Given the description of an element on the screen output the (x, y) to click on. 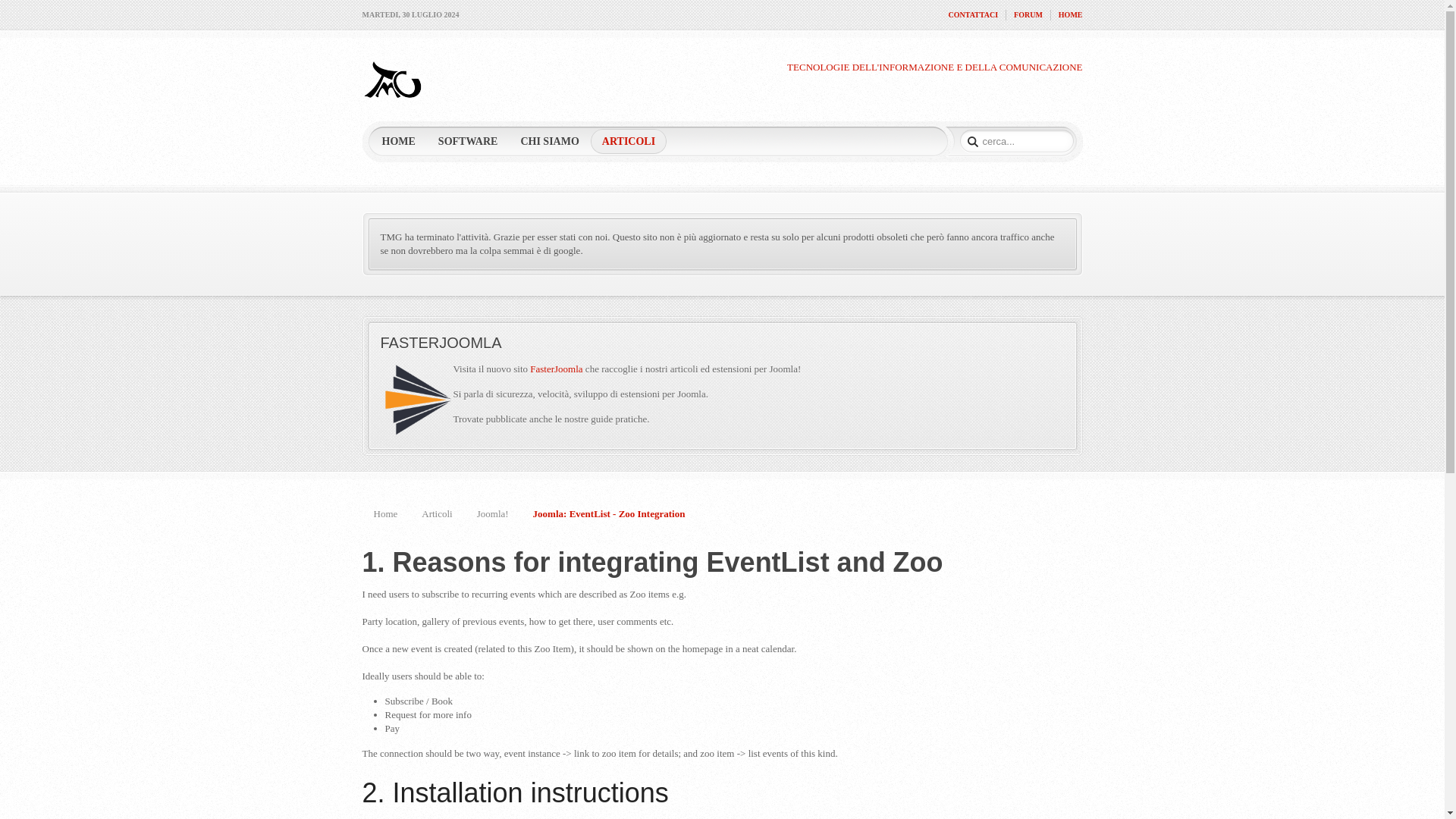
FORUM (1027, 14)
TECNOLOGIE DELL'INFORMAZIONE E DELLA COMUNICAZIONE (392, 96)
ARTICOLI (628, 141)
HOME (1070, 14)
Articoli (445, 514)
Make Joomla! faster and safer (557, 368)
SOFTWARE (467, 141)
HOME (397, 141)
Joomla! (501, 514)
FasterJoomla (557, 368)
CHI SIAMO (548, 141)
Home (392, 514)
CONTATTACI (972, 14)
Reset (3, 2)
